Given the description of an element on the screen output the (x, y) to click on. 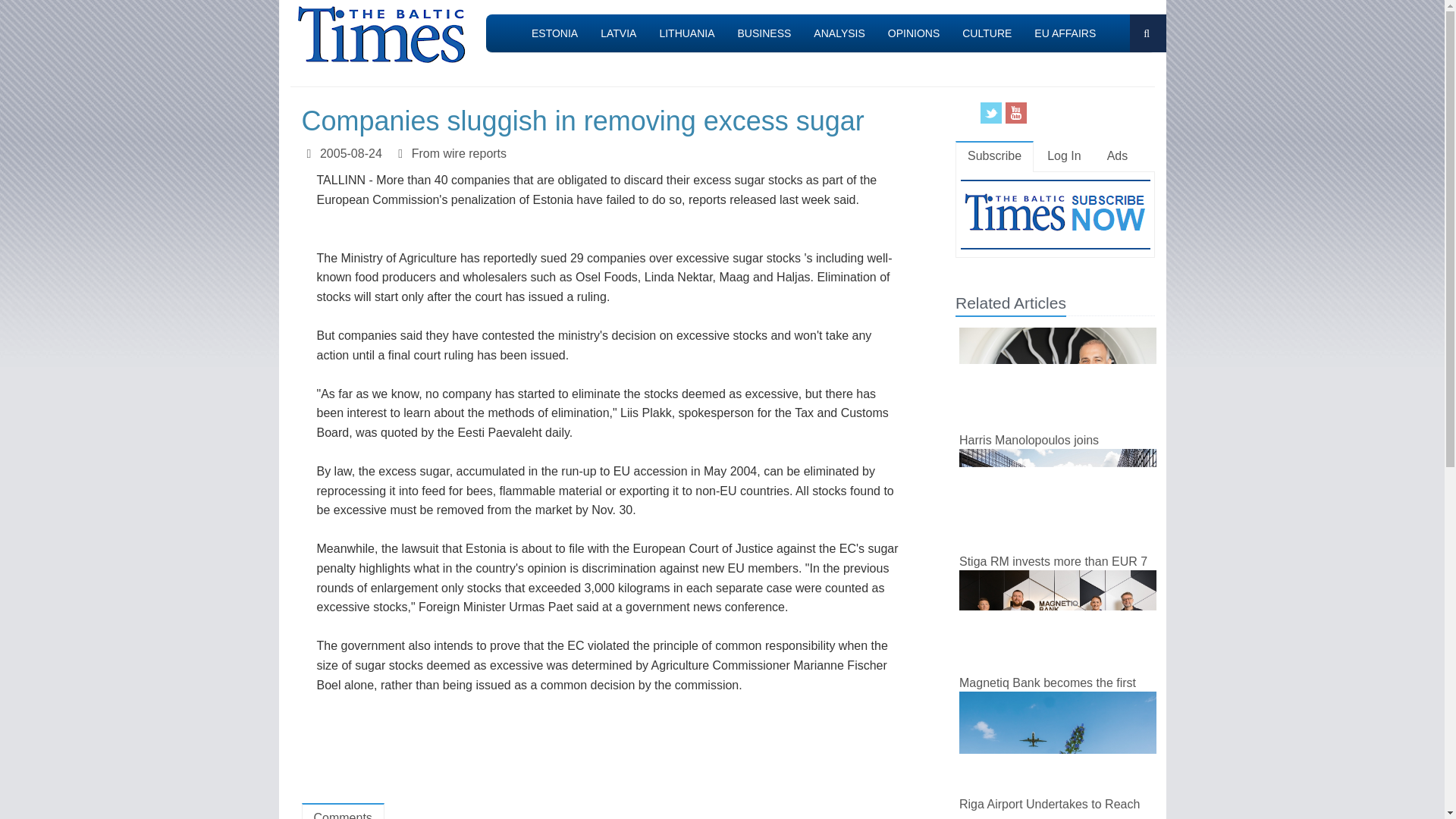
Comments (342, 811)
Subscribe (994, 155)
ANALYSIS (839, 33)
OPINIONS (913, 33)
BUSINESS (764, 33)
LITHUANIA (686, 33)
Log In (1064, 155)
ESTONIA (554, 33)
LATVIA (618, 33)
CULTURE (986, 33)
